Given the description of an element on the screen output the (x, y) to click on. 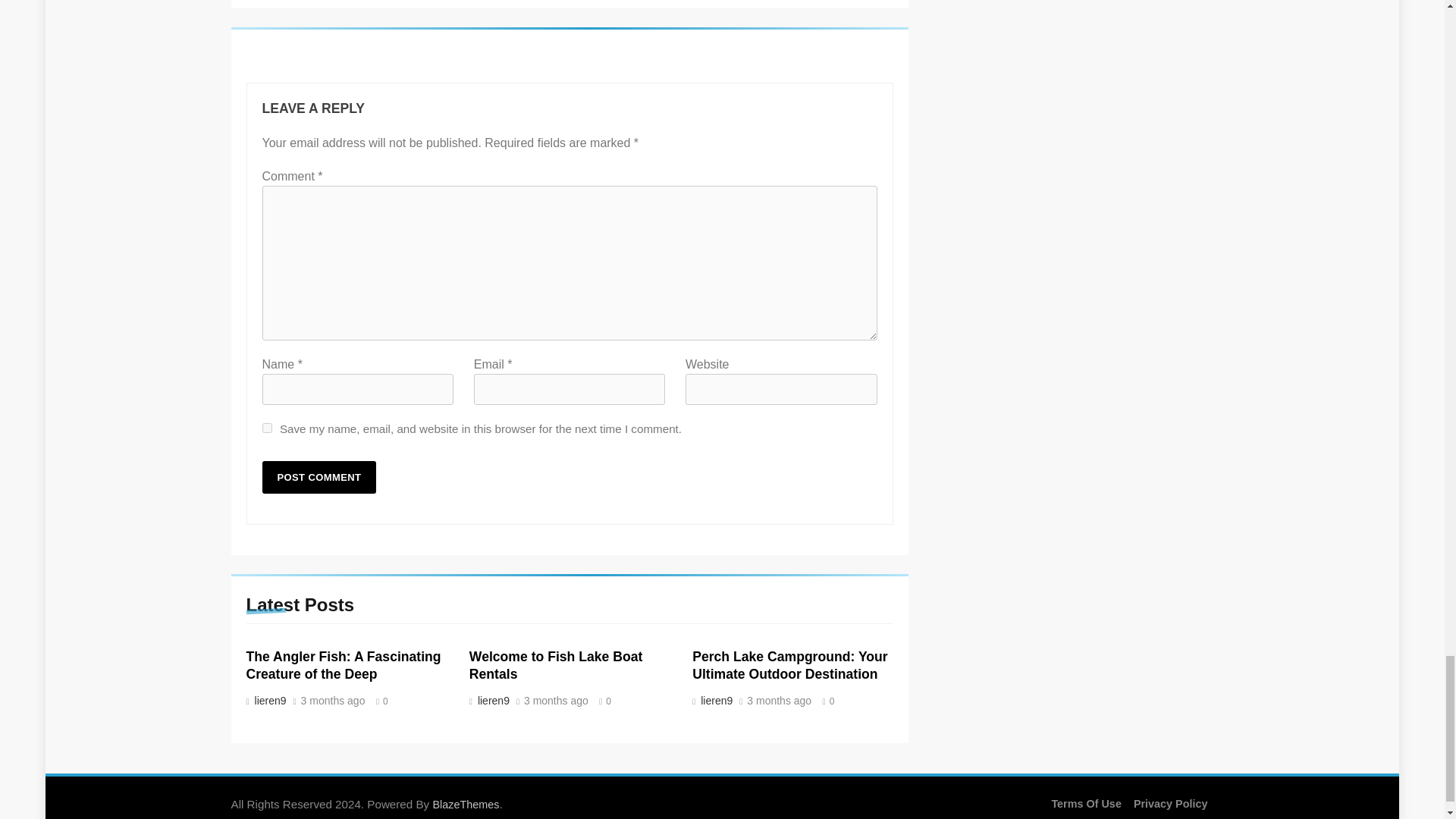
Perch Lake Campground: Your Ultimate Outdoor Destination (789, 665)
Post Comment (319, 477)
Post Comment (319, 477)
3 months ago (556, 701)
Welcome to Fish Lake Boat Rentals (555, 665)
lieren9 (268, 700)
lieren9 (491, 700)
lieren9 (715, 700)
3 months ago (333, 701)
yes (267, 428)
